Given the description of an element on the screen output the (x, y) to click on. 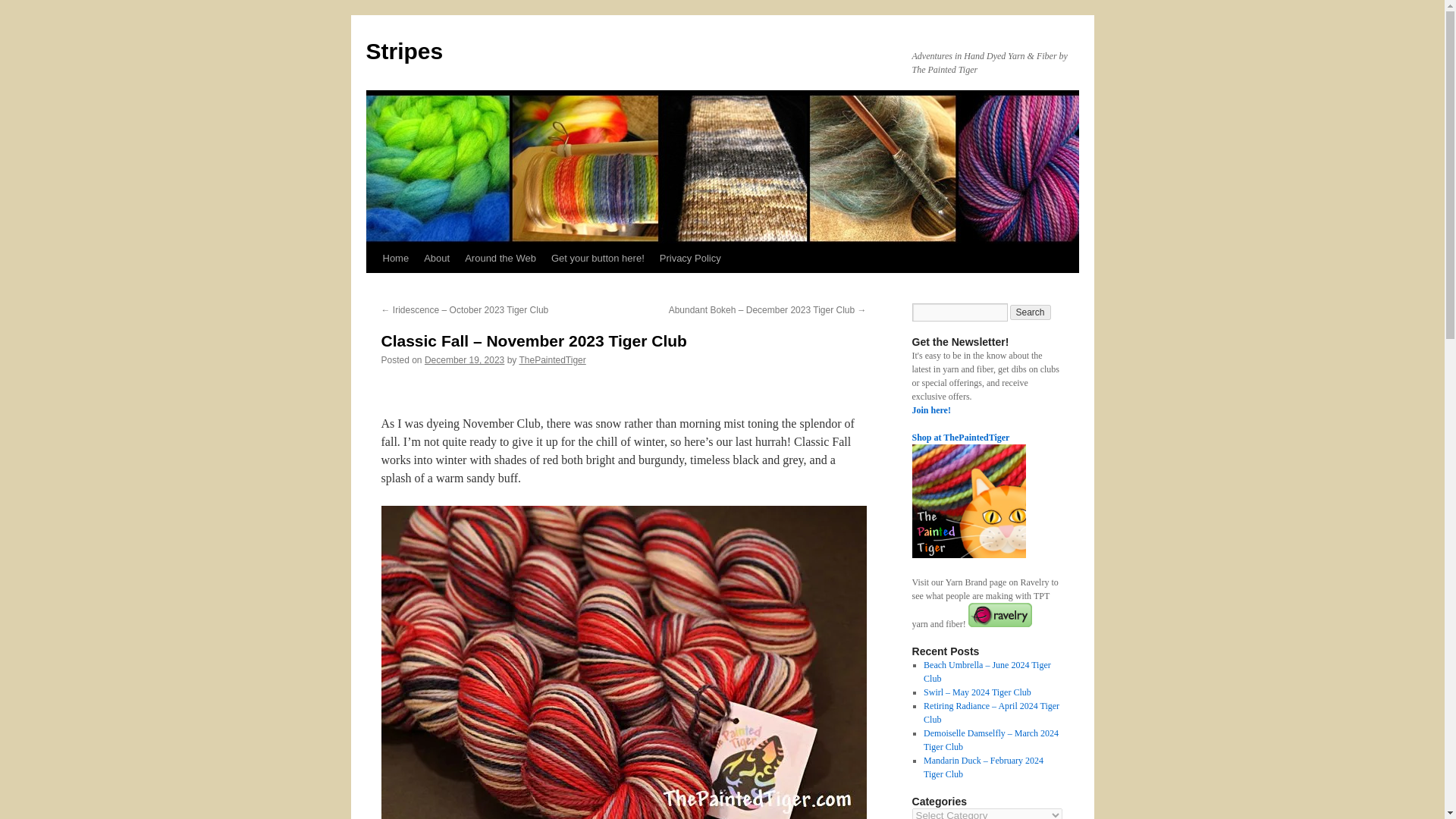
Get your button here! (597, 258)
Join here! (941, 416)
Shop at ThePaintedTiger (960, 437)
View all posts by ThePaintedTiger (551, 359)
Home (395, 258)
Search (1030, 312)
Stripes (403, 50)
December 19, 2023 (464, 359)
Privacy Policy (690, 258)
Around the Web (500, 258)
